Given the description of an element on the screen output the (x, y) to click on. 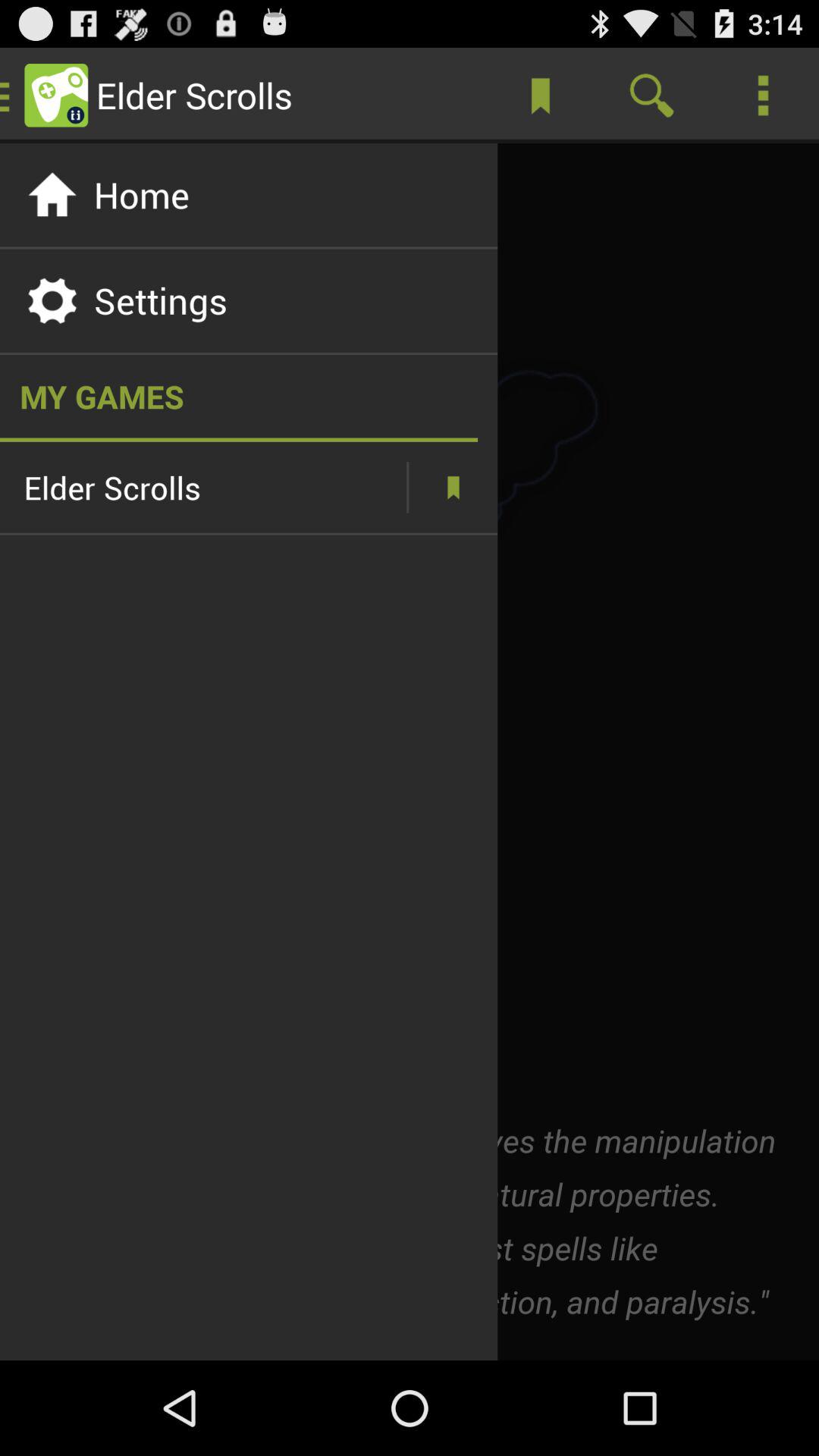
bookmark button (452, 486)
